Given the description of an element on the screen output the (x, y) to click on. 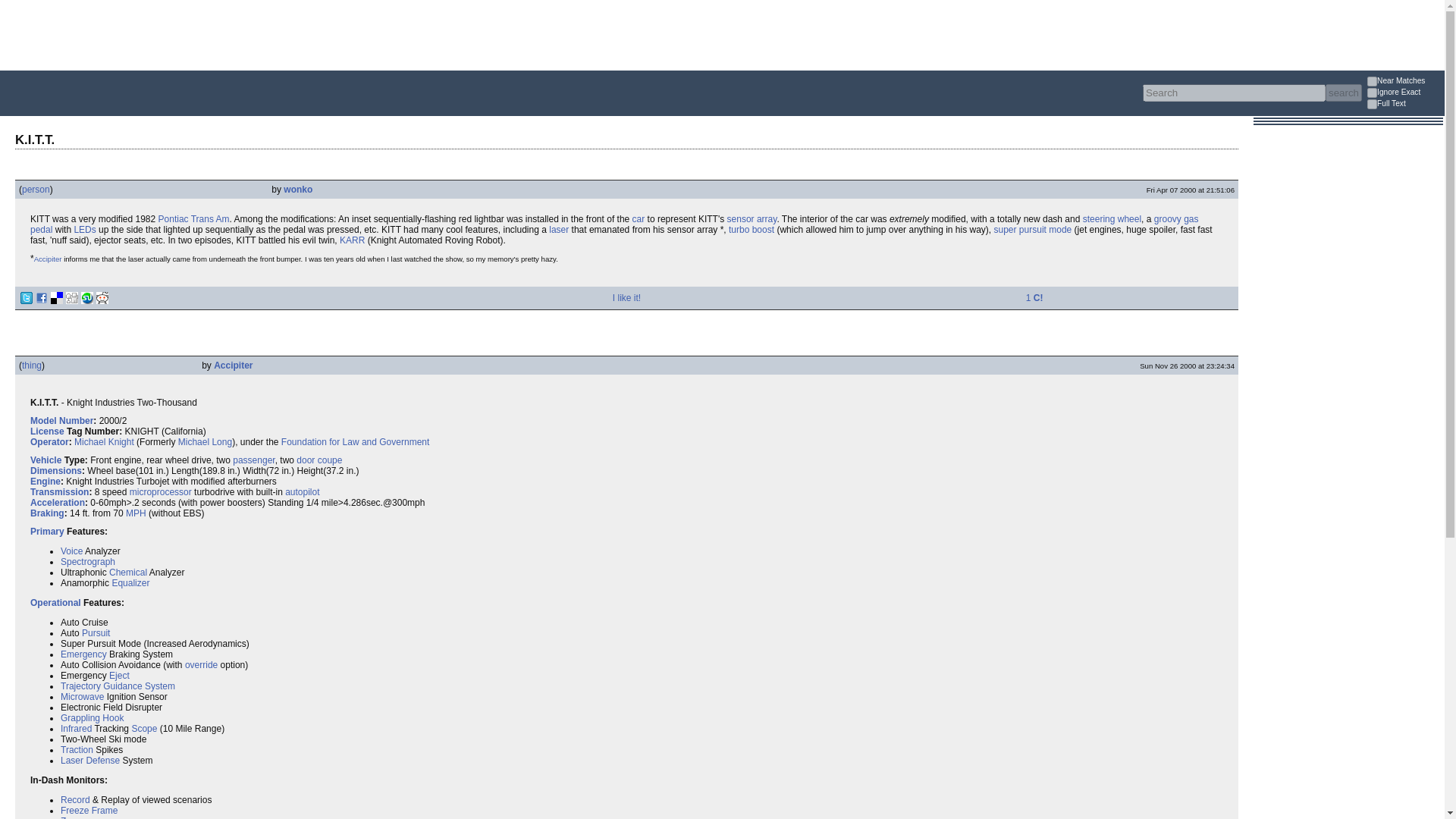
search (1342, 92)
Trans Am (210, 218)
Everything (242, 117)
LED (85, 229)
Apr 07 2000 at 21:51:06 (1190, 189)
super pursuit mode (1032, 229)
1 C! (1034, 297)
turbo boost (751, 229)
groovy (1167, 218)
LEDs (85, 229)
